Given the description of an element on the screen output the (x, y) to click on. 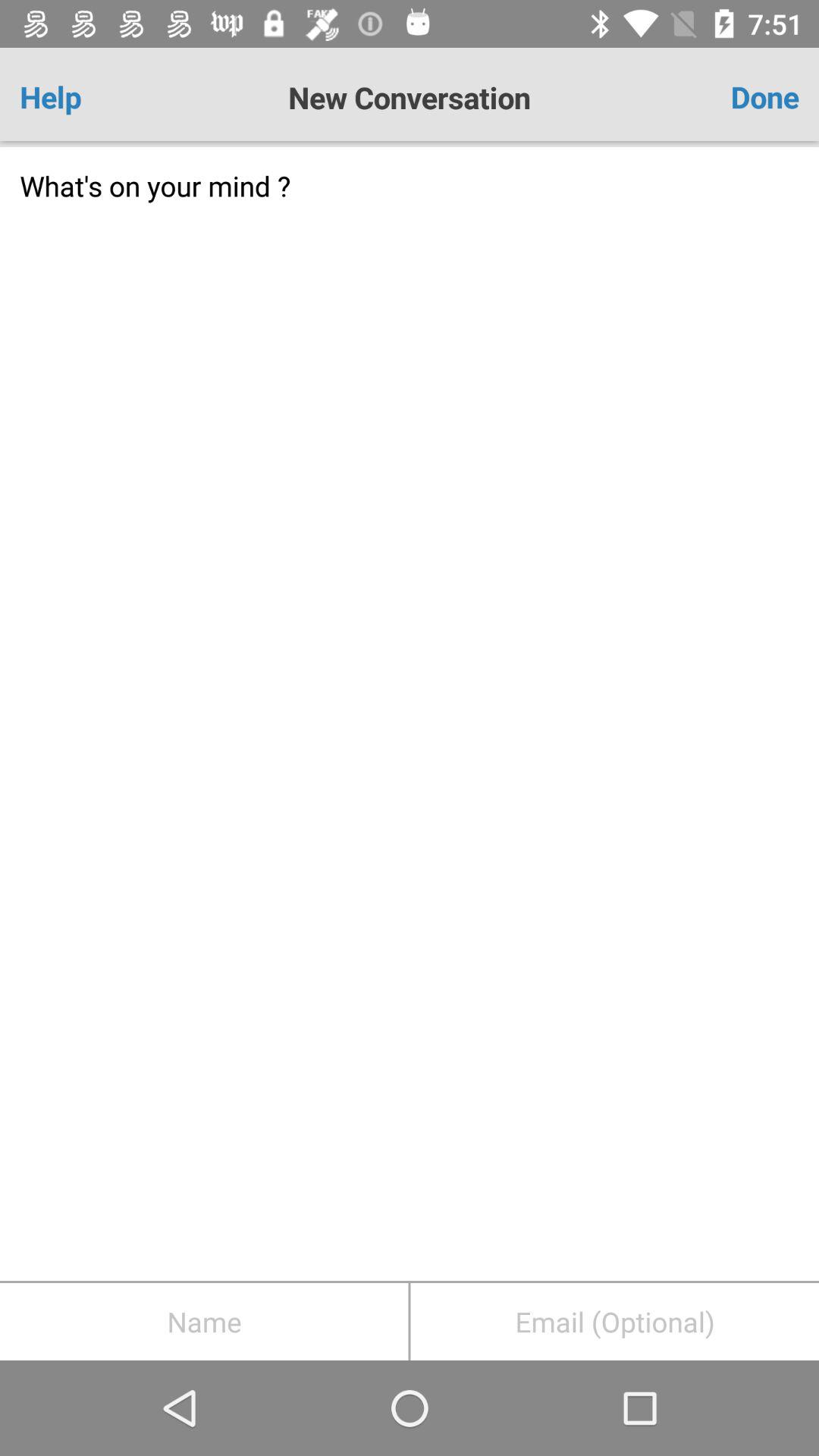
tap icon next to new conversation item (83, 97)
